Given the description of an element on the screen output the (x, y) to click on. 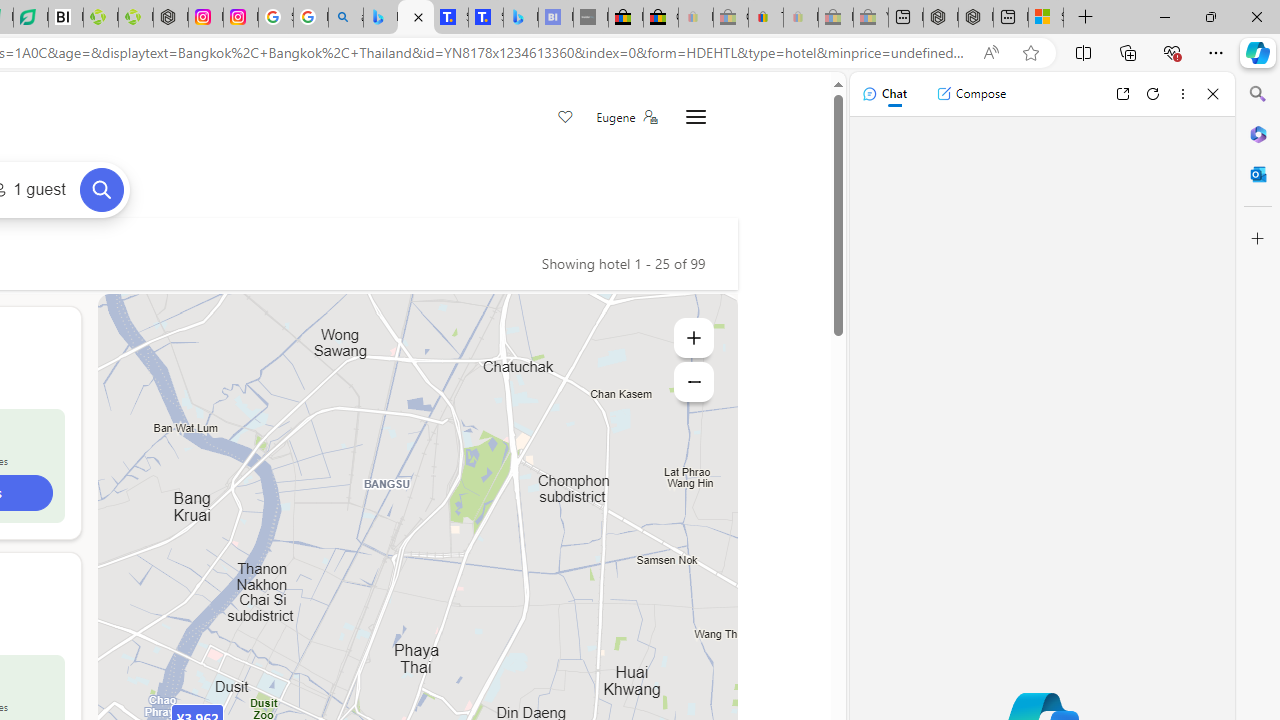
Nvidia va a poner a prueba la paciencia de los inversores (65, 17)
Payments Terms of Use | eBay.com - Sleeping (800, 17)
Zoom in (693, 337)
Safety in Our Products - Google Safety Center (275, 17)
